Given the description of an element on the screen output the (x, y) to click on. 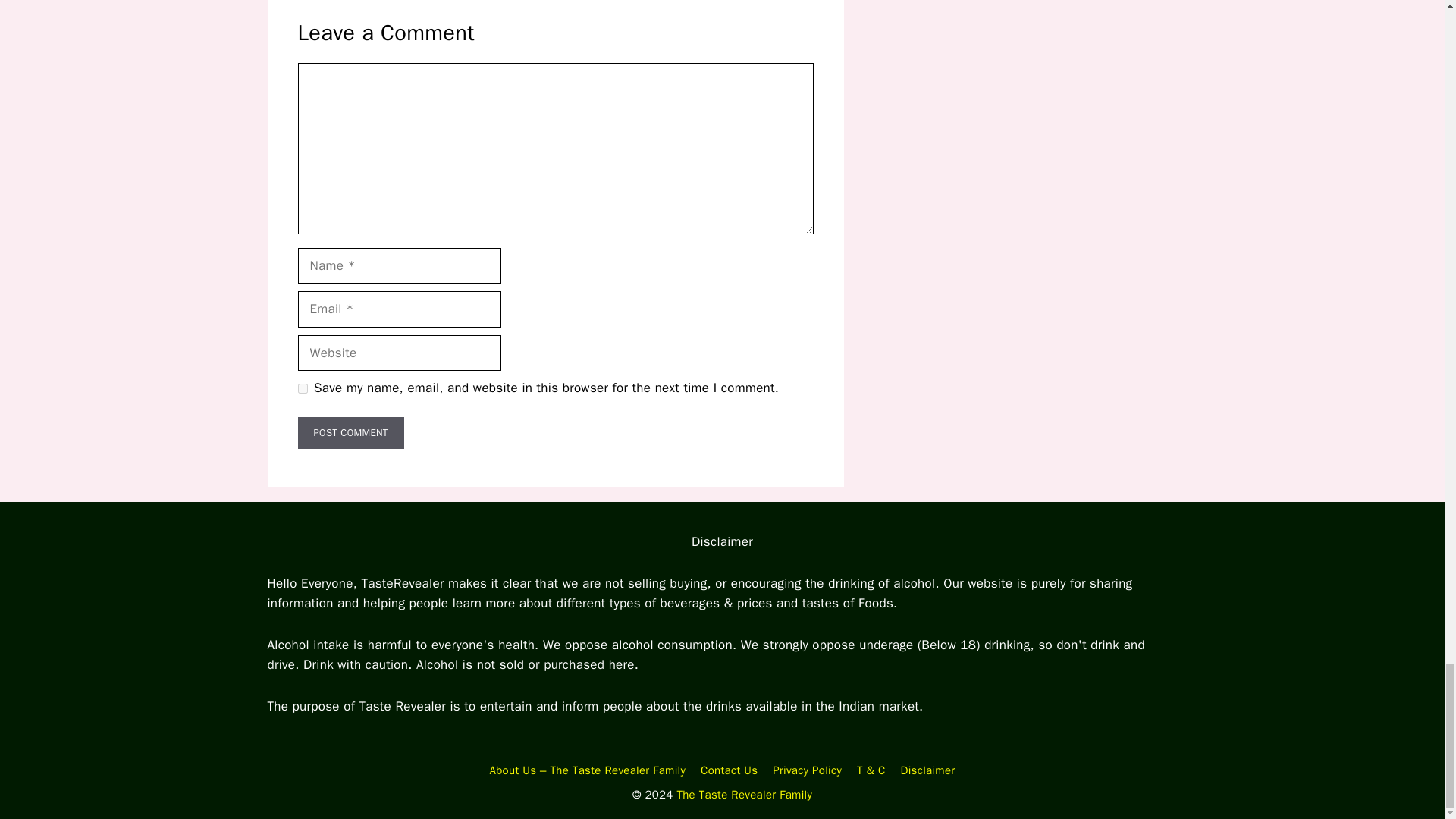
Contact Us (728, 770)
Disclaimer (928, 770)
Post Comment (350, 432)
yes (302, 388)
Privacy Policy (807, 770)
Post Comment (350, 432)
The Taste Revealer Family (744, 794)
